Given the description of an element on the screen output the (x, y) to click on. 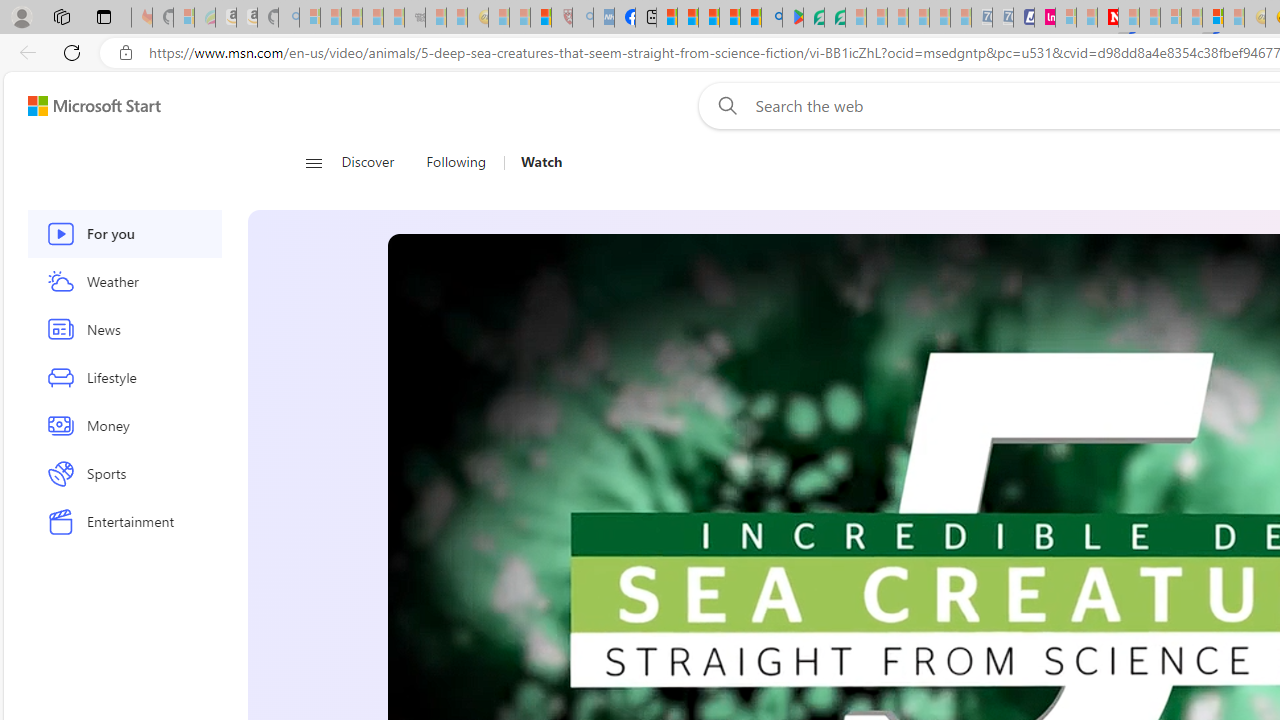
Microsoft-Report a Concern to Bing - Sleeping (184, 17)
Cheap Car Rentals - Save70.com - Sleeping (981, 17)
google - Search (771, 17)
Offline games - Android Apps on Google Play (792, 17)
New Report Confirms 2023 Was Record Hot | Watch - Sleeping (394, 17)
Recipes - MSN - Sleeping (499, 17)
